Given the description of an element on the screen output the (x, y) to click on. 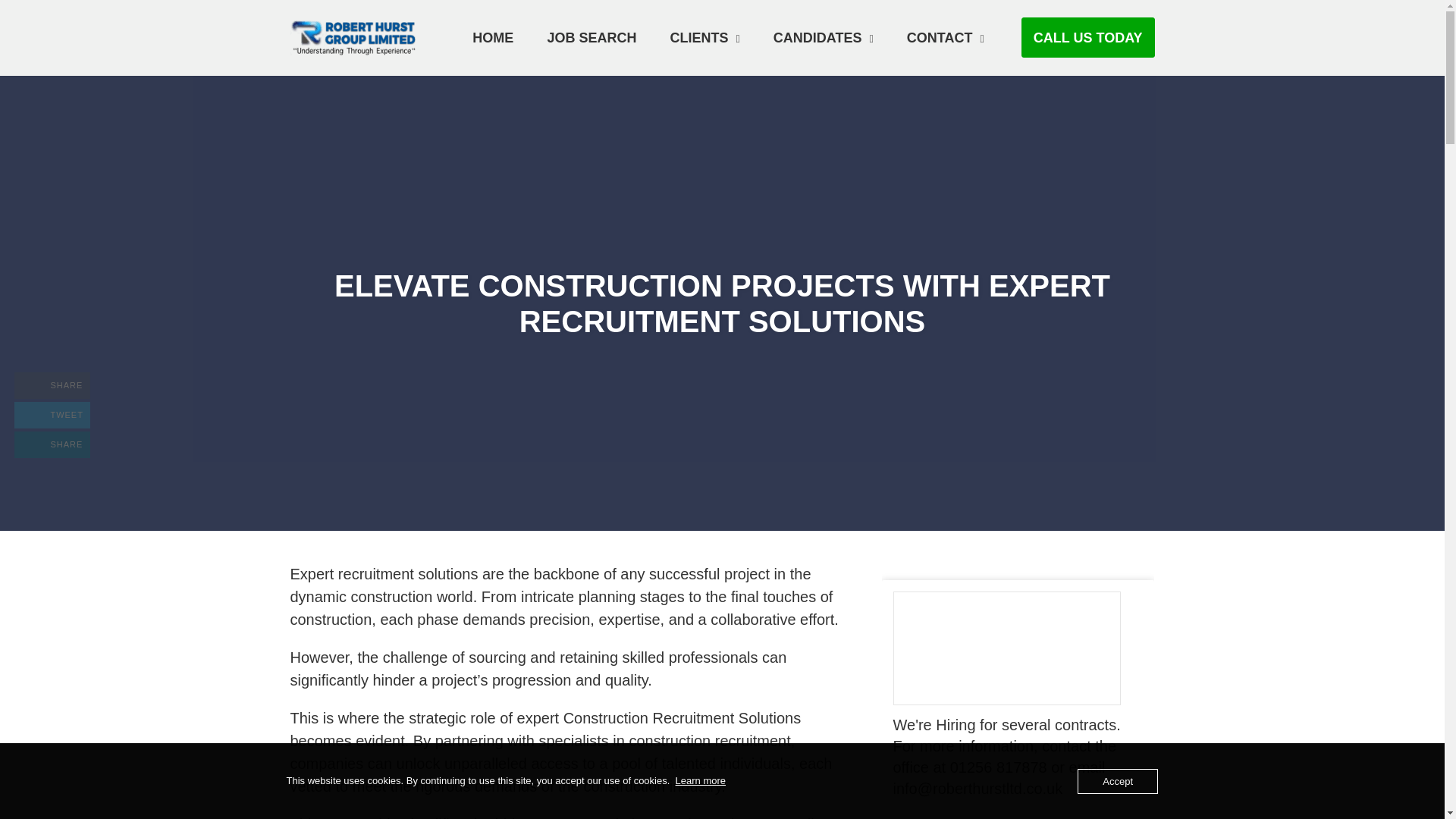
CANDIDATES (823, 37)
CONTACT (945, 37)
HOME (492, 37)
Robert Hurst Group Ltd. (362, 37)
CLIENTS (704, 37)
CALL US TODAY (52, 444)
JOB SEARCH (52, 385)
